Given the description of an element on the screen output the (x, y) to click on. 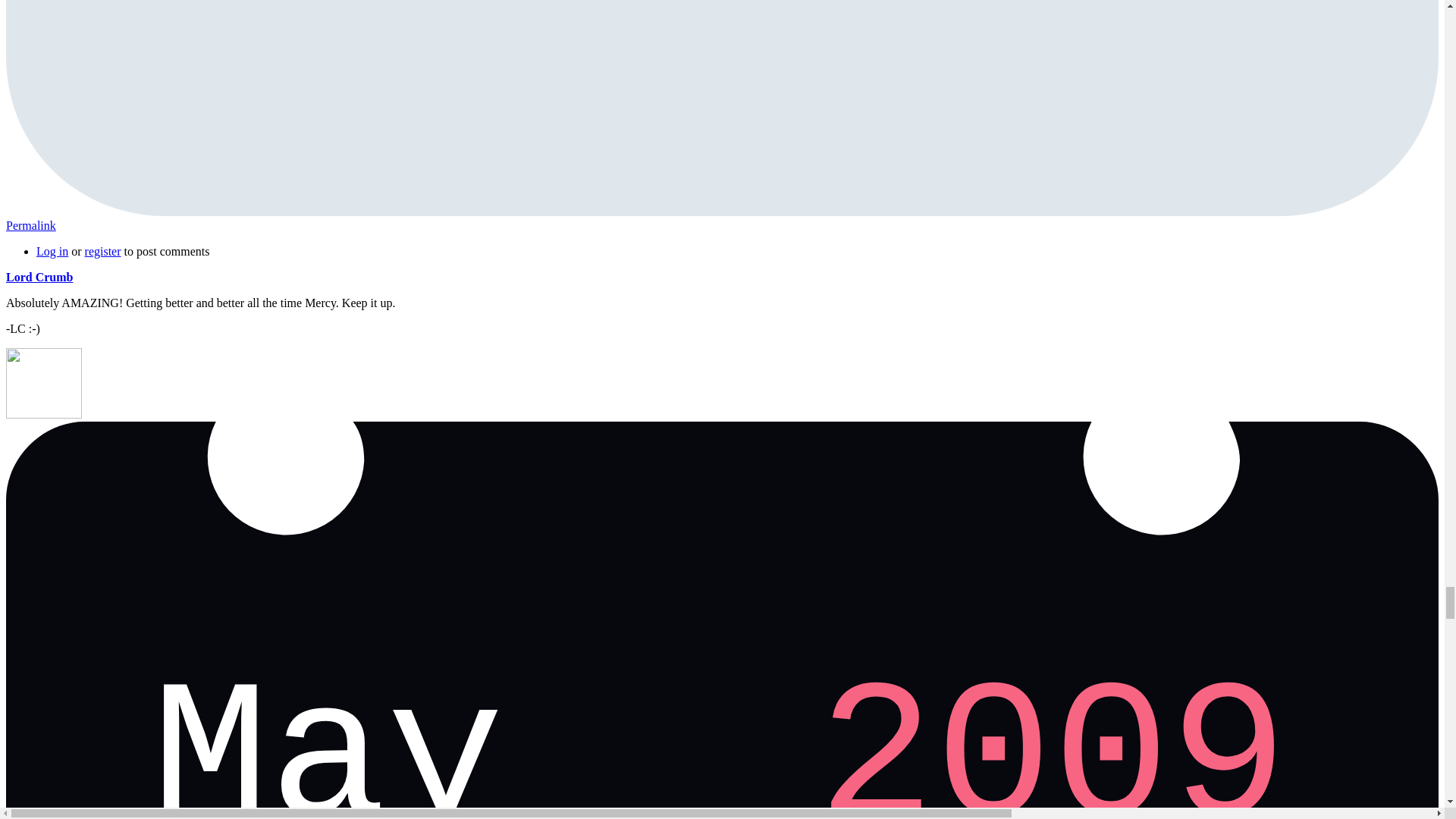
View user profile. (38, 277)
